Given the description of an element on the screen output the (x, y) to click on. 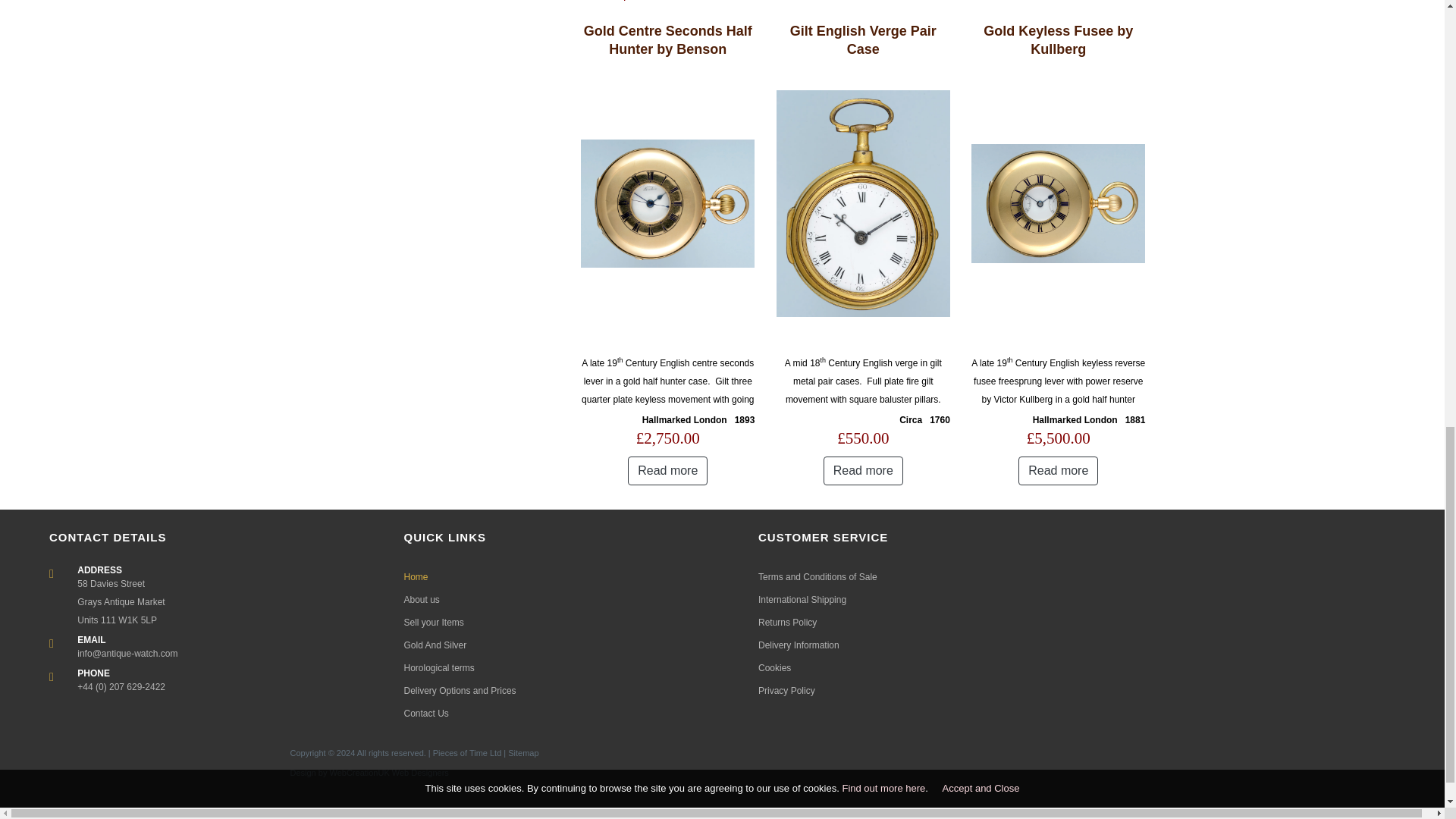
Read more (1057, 470)
Read more (863, 470)
Read more (667, 470)
